Given the description of an element on the screen output the (x, y) to click on. 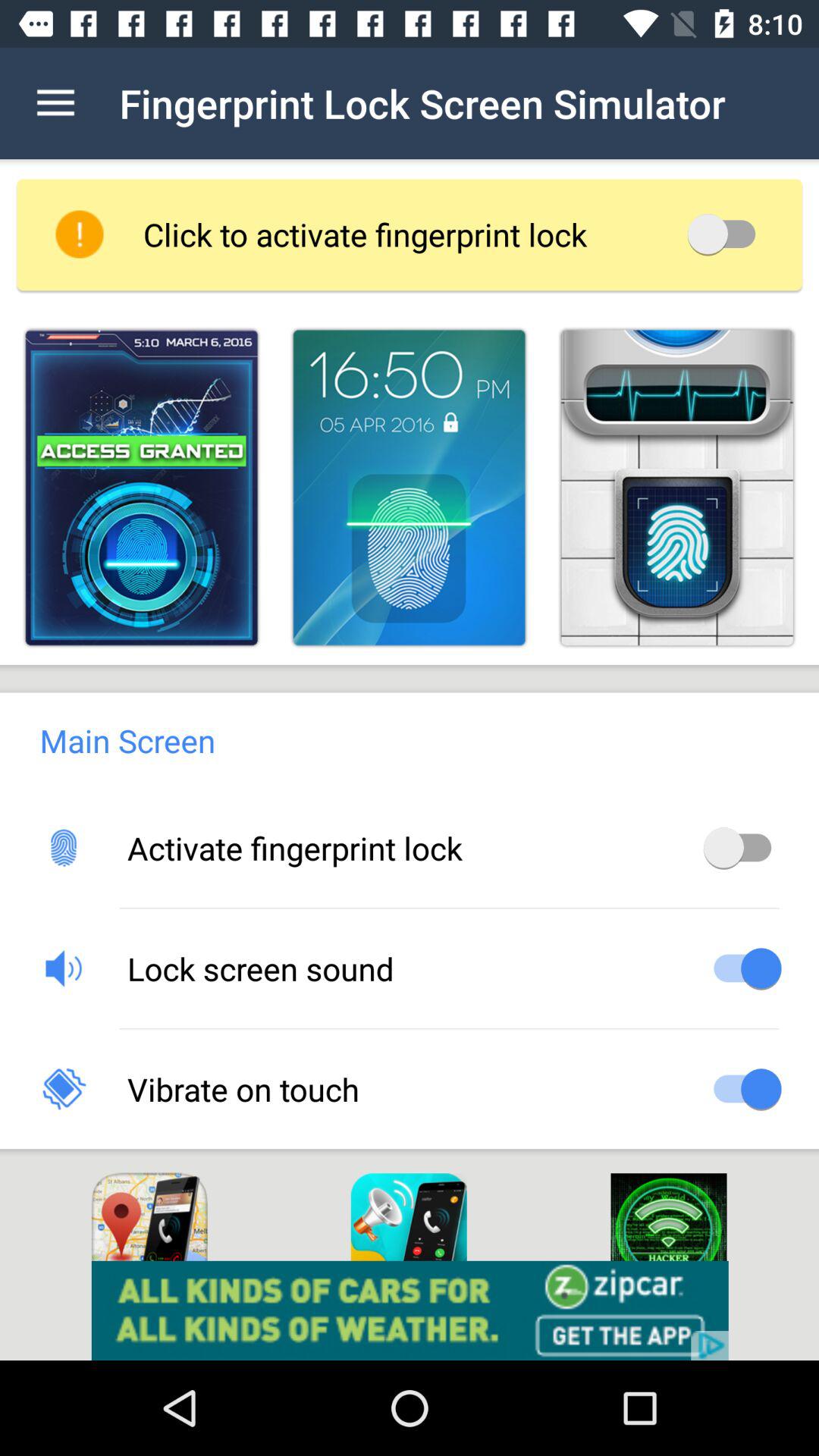
switch autolock option (726, 233)
